Given the description of an element on the screen output the (x, y) to click on. 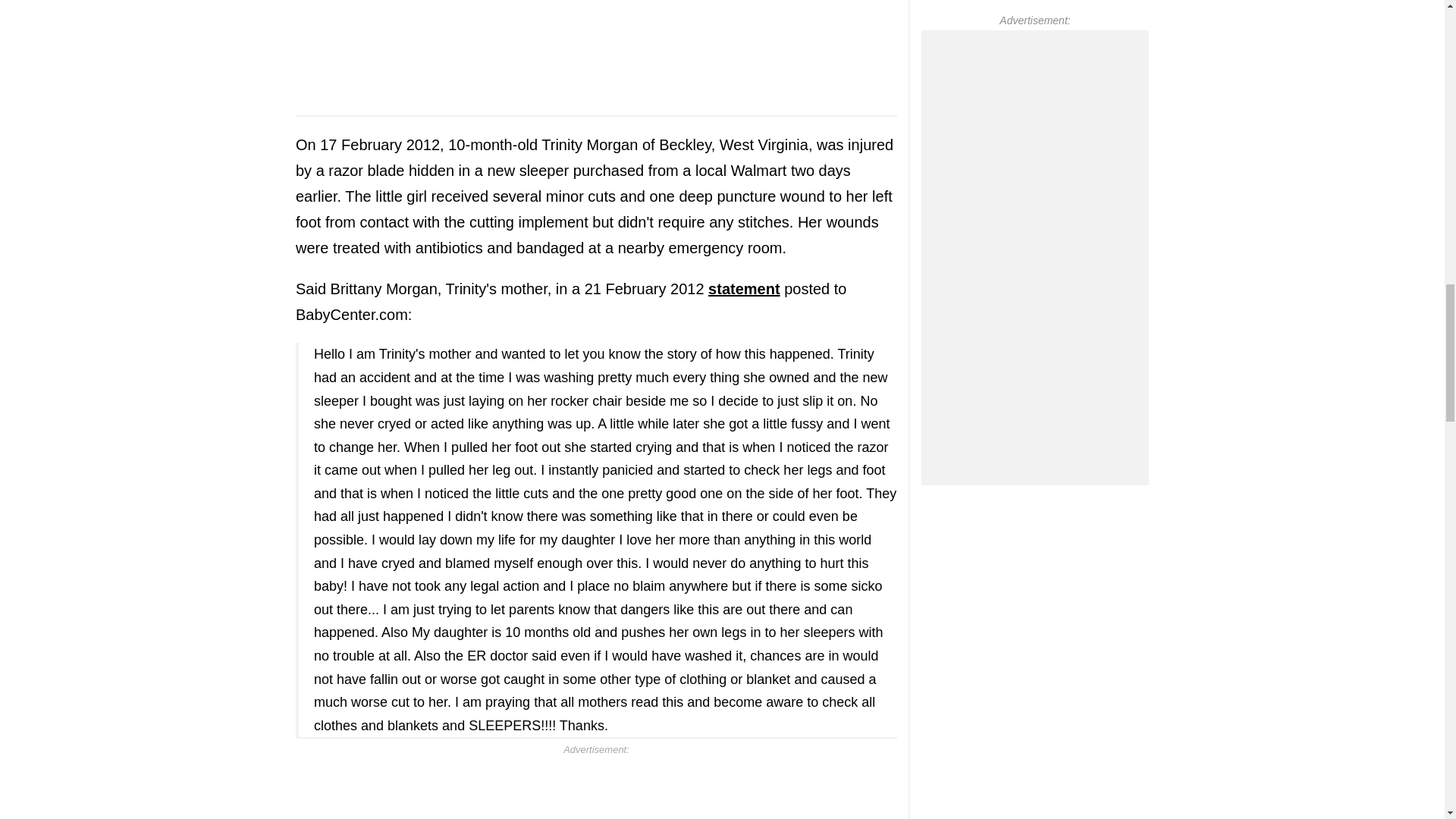
statement (742, 288)
